Given the description of an element on the screen output the (x, y) to click on. 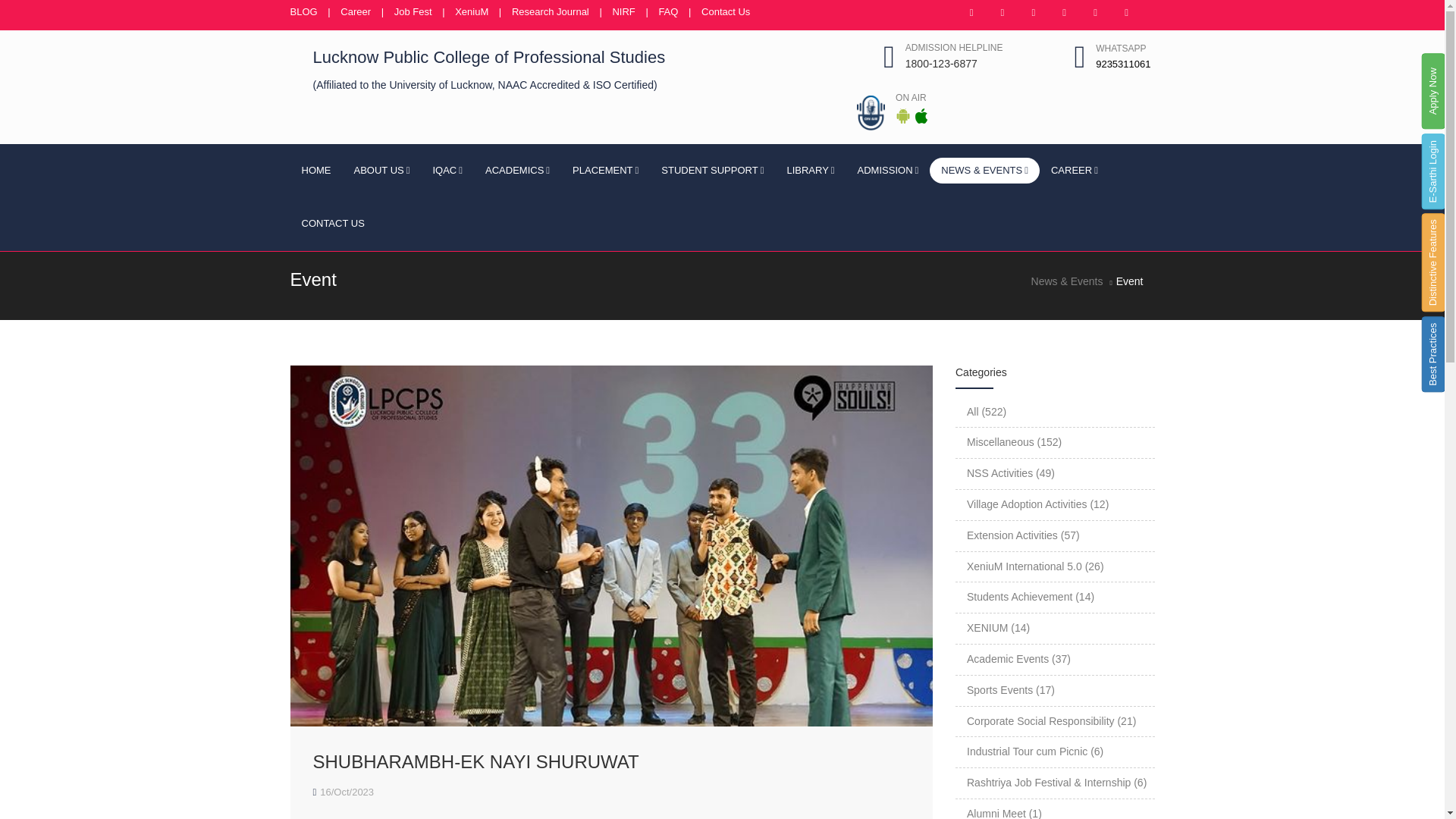
HOME (315, 171)
Contact Us (725, 11)
BLOG (303, 11)
WHATSAPP (1120, 48)
Job Fest (413, 11)
ON AIR (910, 97)
Contact Us (725, 11)
ABOUT US (382, 171)
twitter (1033, 12)
facebook (1002, 12)
